Given the description of an element on the screen output the (x, y) to click on. 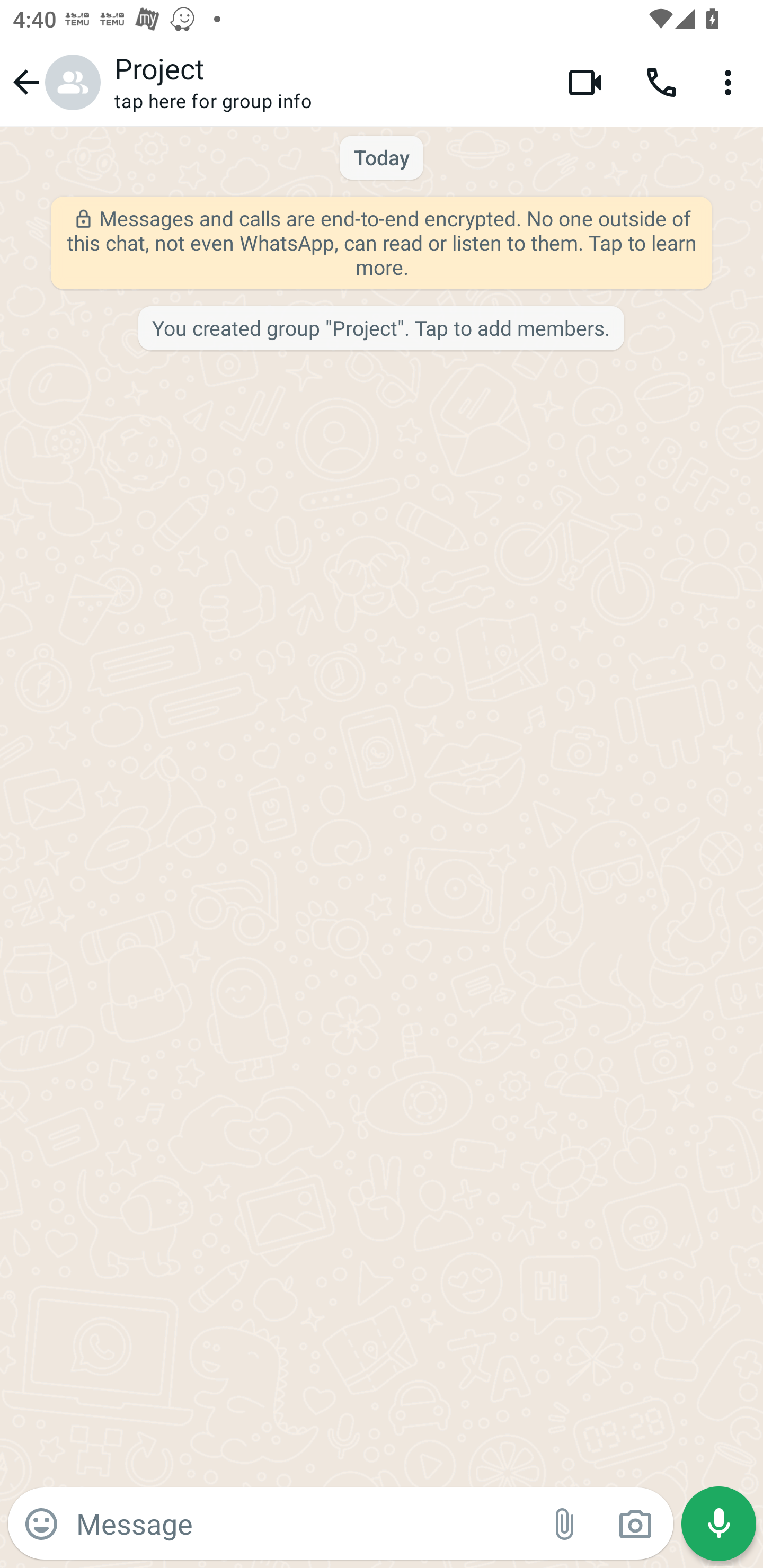
Project tap here for group info (327, 82)
Navigate up (54, 82)
Video call (585, 81)
Voice call (661, 81)
More options (731, 81)
You created group "Project". Tap to add members. (381, 329)
Emoji (41, 1523)
Attach (565, 1523)
Camera (634, 1523)
Message (303, 1523)
